Given the description of an element on the screen output the (x, y) to click on. 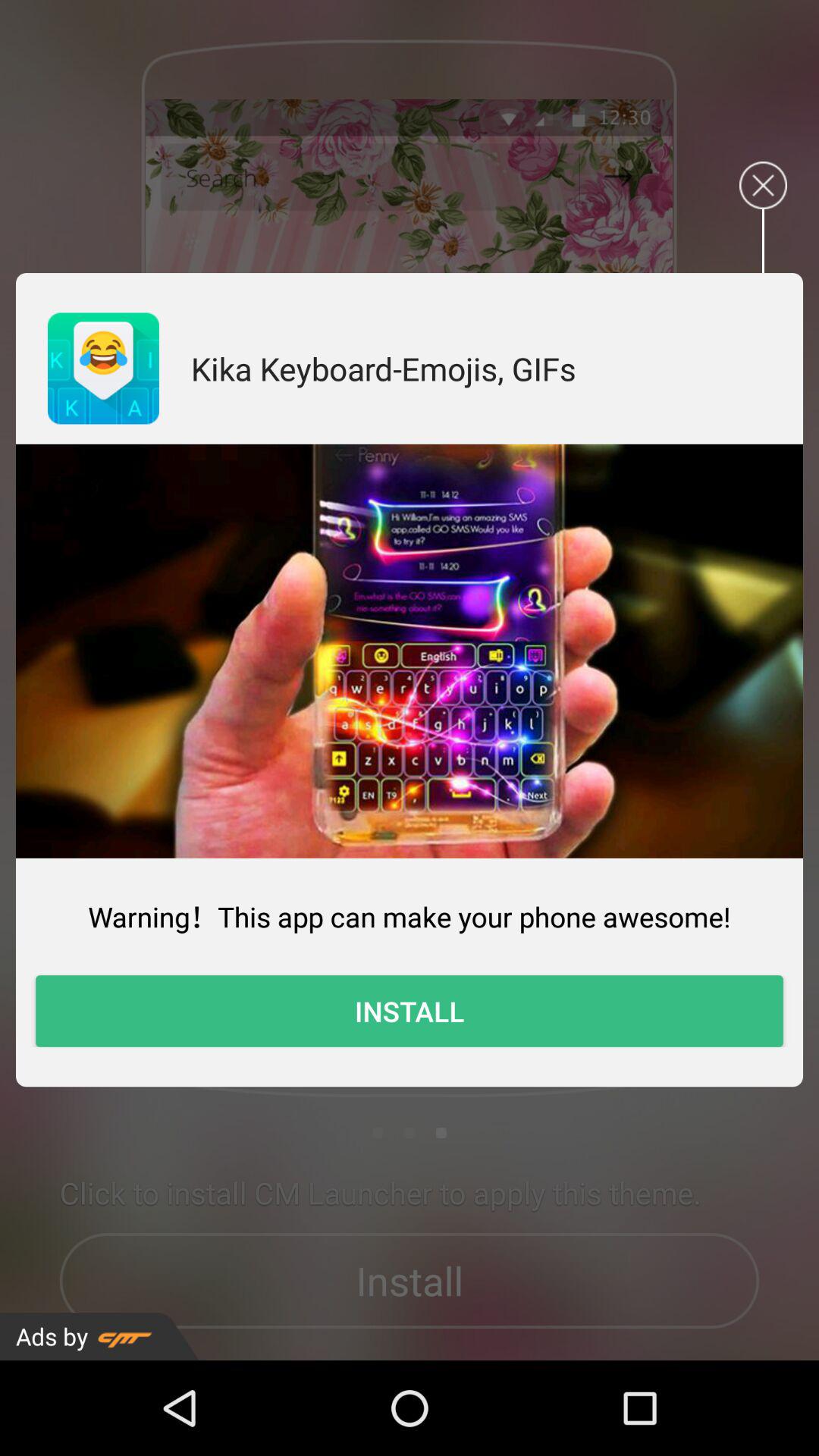
launch warning this app app (409, 916)
